Given the description of an element on the screen output the (x, y) to click on. 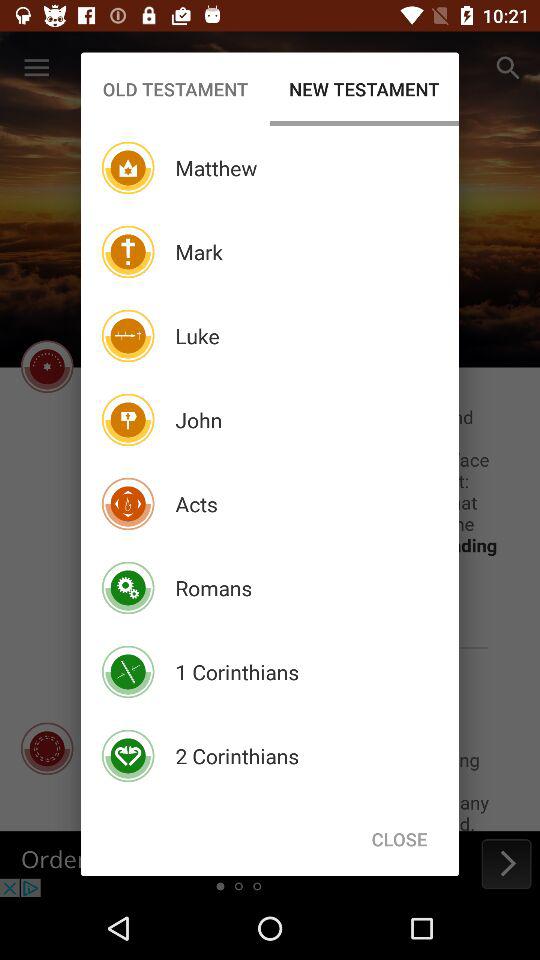
scroll until the acts item (196, 503)
